Given the description of an element on the screen output the (x, y) to click on. 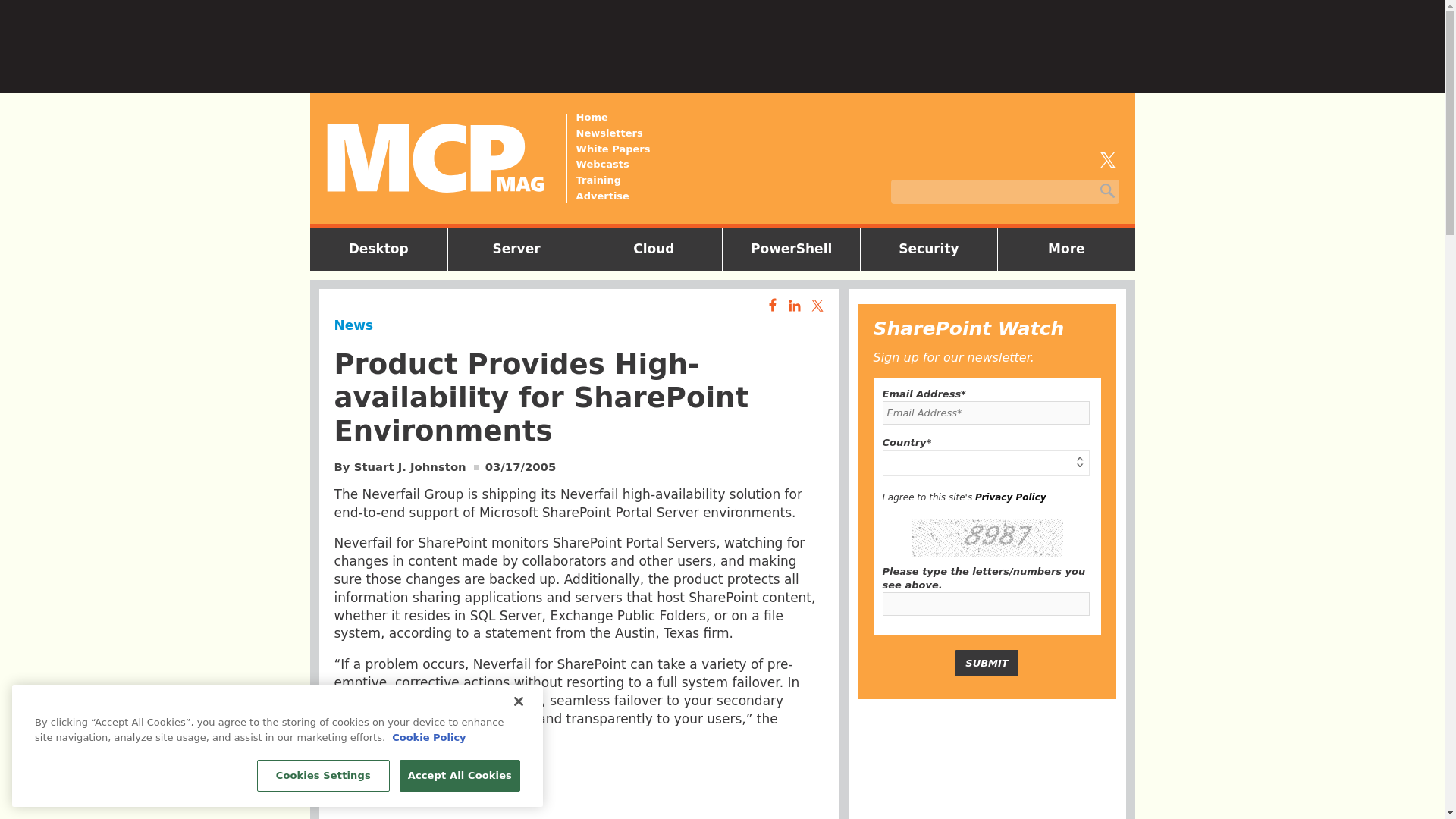
News (352, 324)
Submit (986, 663)
Server (515, 248)
3rd party ad content (986, 766)
White Papers (613, 149)
3rd party ad content (579, 789)
Webcasts (613, 163)
PowerShell (791, 248)
Submit (986, 663)
3rd party ad content (721, 39)
More (1067, 248)
Desktop (378, 248)
Newsletters (613, 132)
Security (928, 248)
Search (1105, 191)
